Given the description of an element on the screen output the (x, y) to click on. 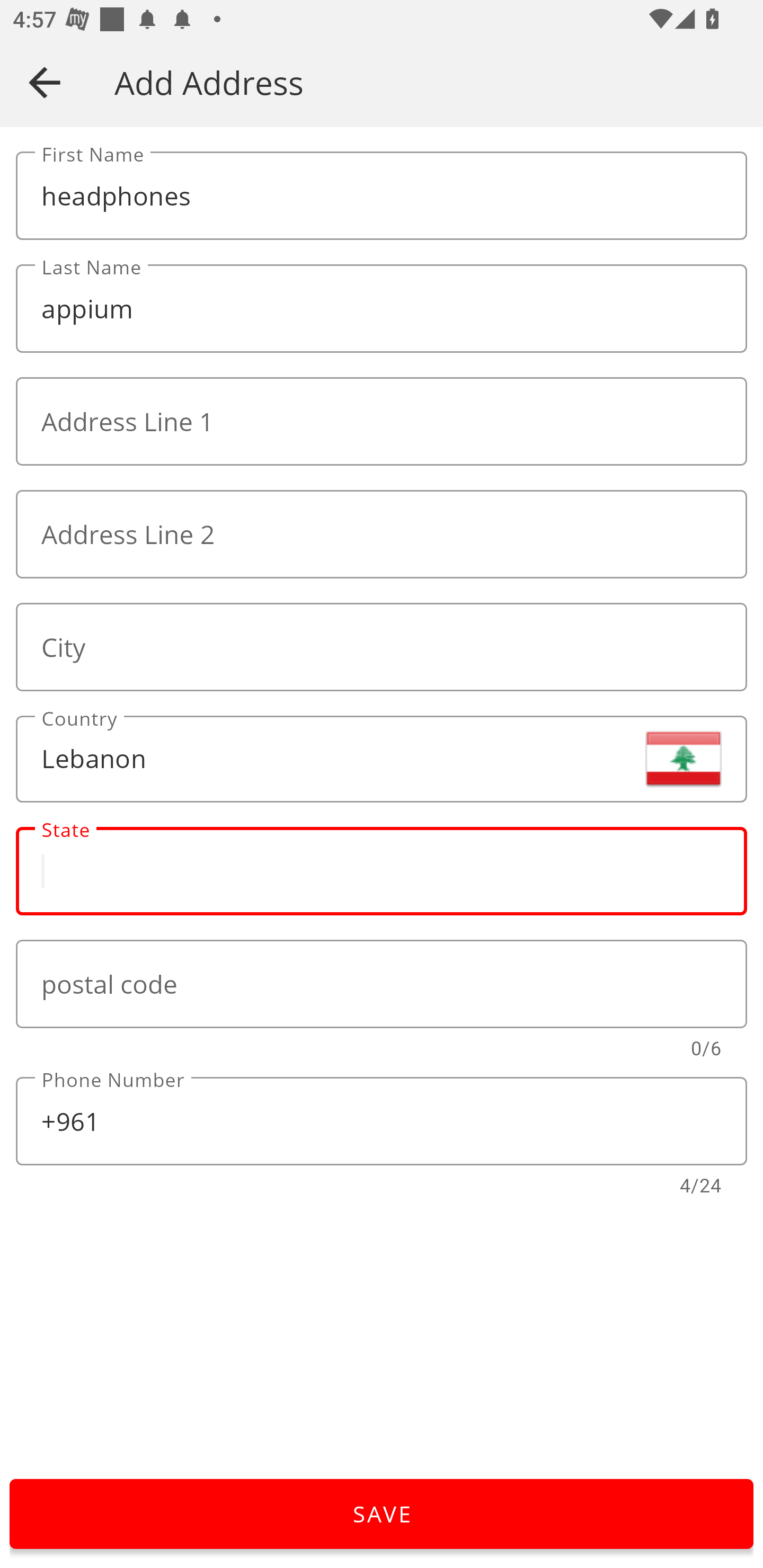
Navigate up (44, 82)
headphones (381, 195)
appium (381, 308)
Address Line 1 (381, 421)
Address Line 2 (381, 533)
City (381, 646)
Lebanon (381, 758)
State (381, 870)
postal code (381, 983)
+961 (381, 1121)
SAVE (381, 1513)
